Given the description of an element on the screen output the (x, y) to click on. 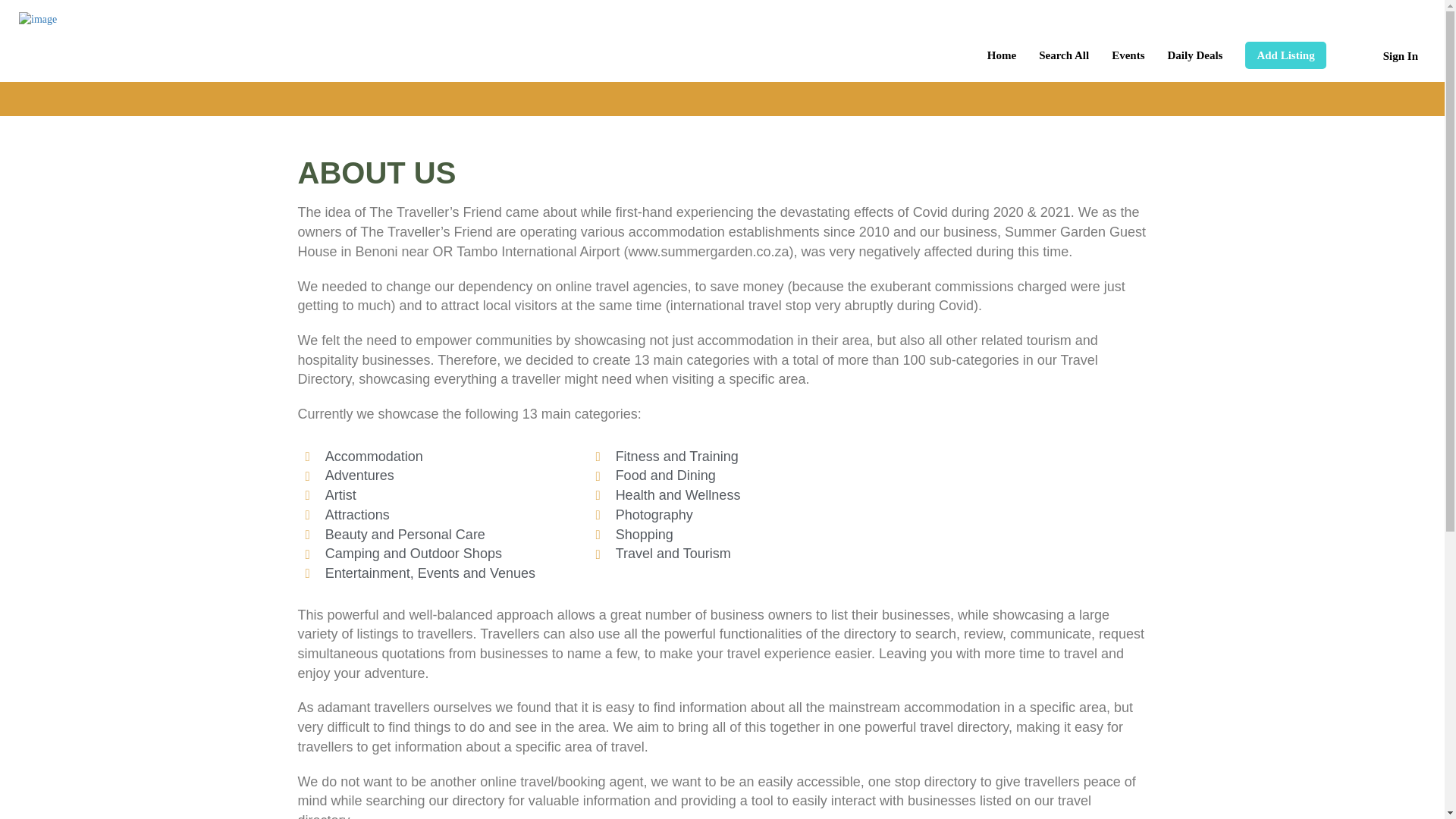
Daily Deals (1195, 55)
Sign In (1400, 55)
Home (1001, 55)
Search All (1064, 55)
Add Listing (1284, 54)
Events (1128, 55)
